Given the description of an element on the screen output the (x, y) to click on. 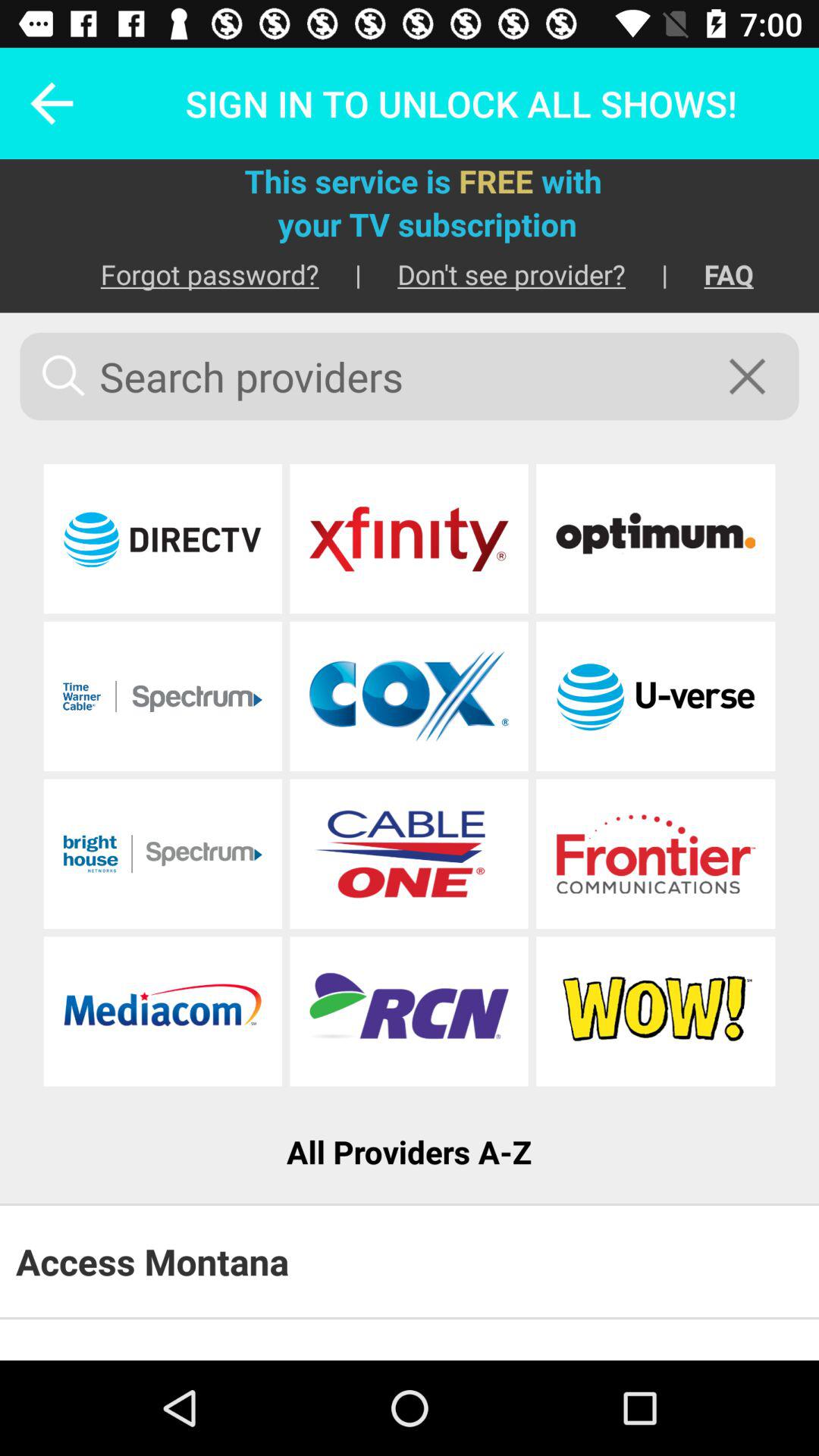
advance to the spectrum page (162, 696)
